Given the description of an element on the screen output the (x, y) to click on. 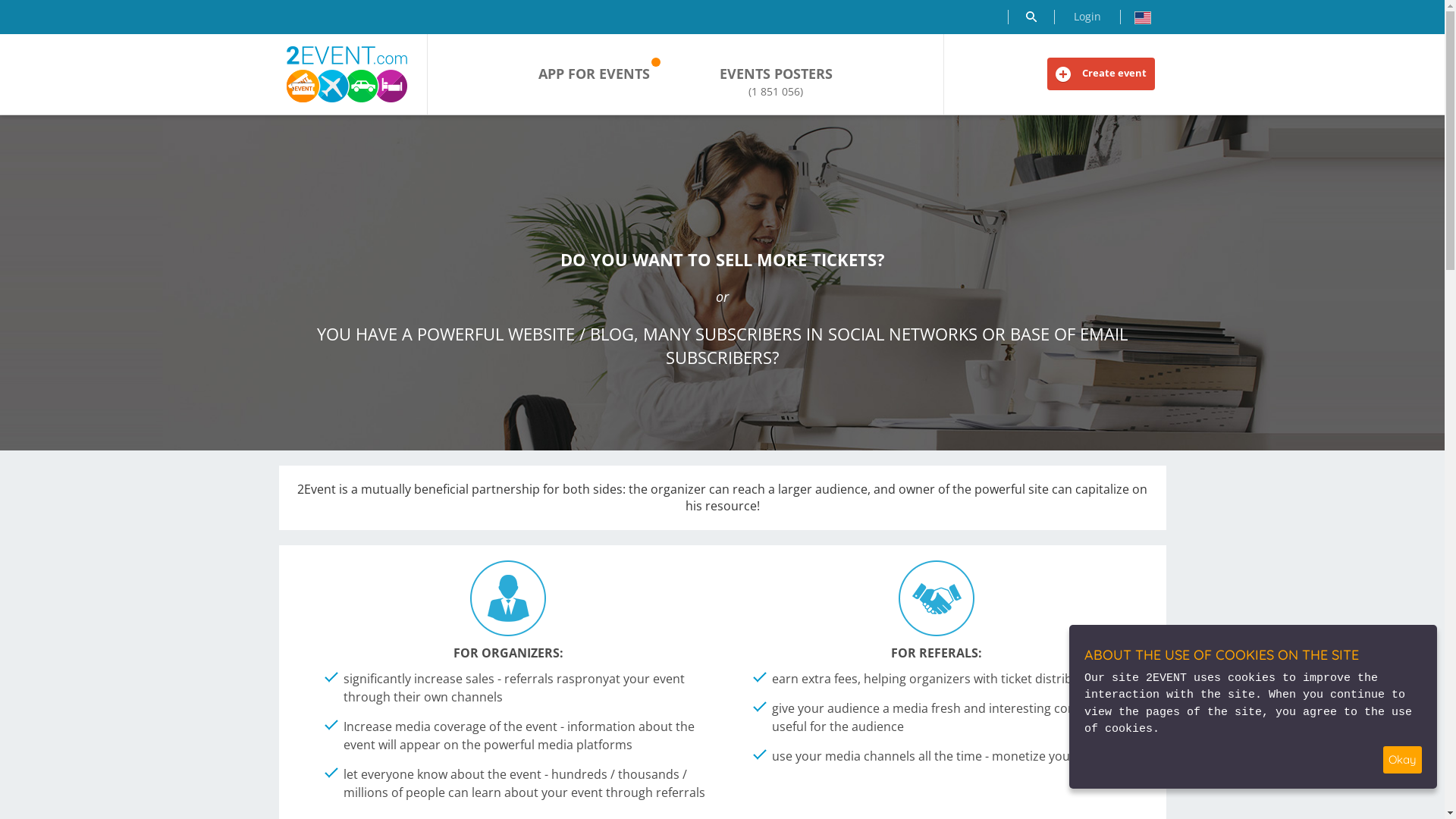
Okay Element type: text (1402, 760)
Search Element type: hover (1030, 16)
Login Element type: text (1087, 16)
APP FOR EVENTS Element type: text (593, 73)
Create event Element type: text (1100, 73)
EVENTS POSTERS
(1 851 056) Element type: text (776, 81)
